Given the description of an element on the screen output the (x, y) to click on. 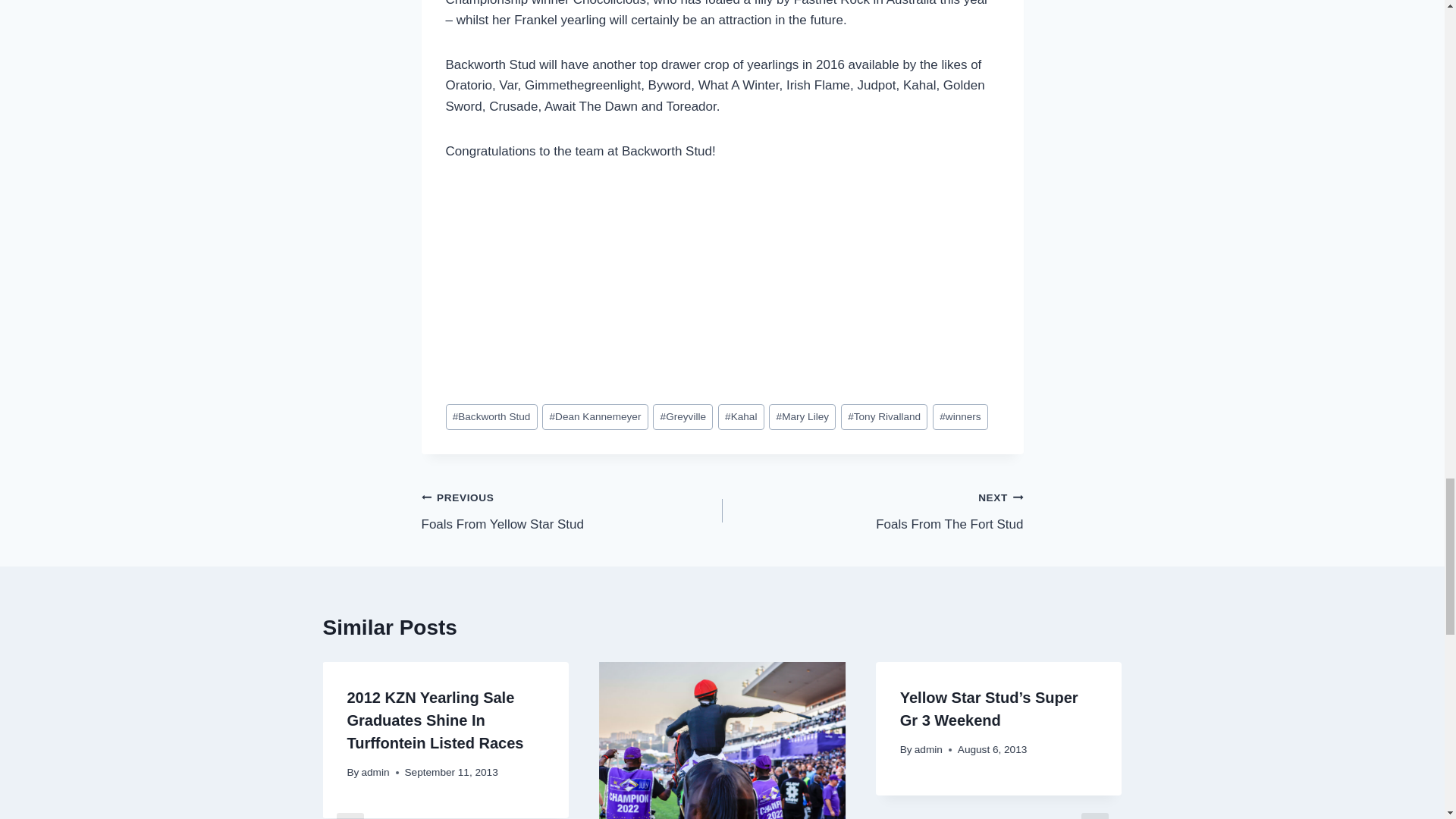
Greyville (682, 417)
Tony Rivalland (884, 417)
winners (960, 417)
Mary Liley (801, 417)
Dean Kannemeyer (594, 417)
Backworth Stud (491, 417)
Kahal (740, 417)
